Given the description of an element on the screen output the (x, y) to click on. 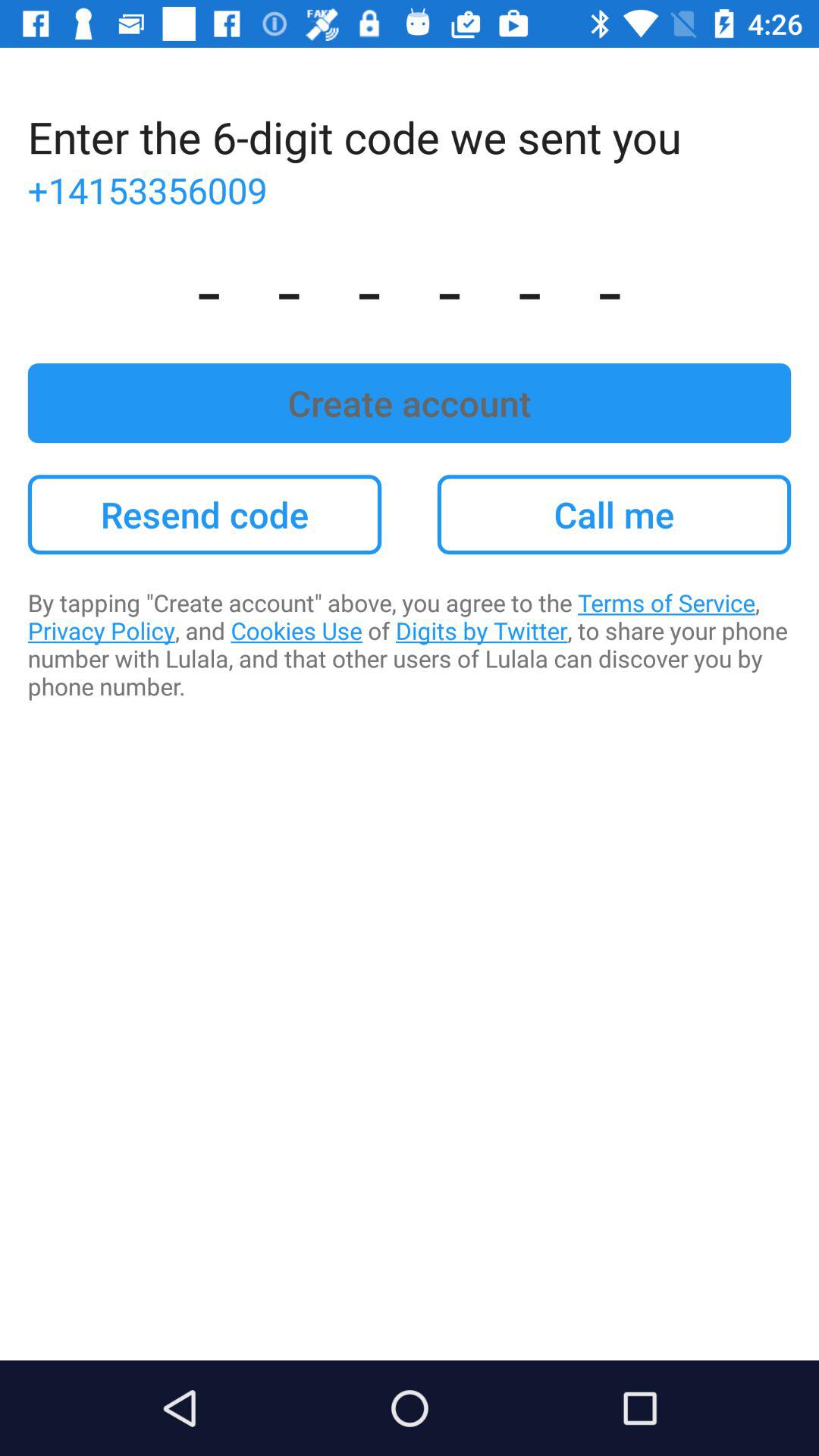
jump until by tapping create item (409, 644)
